Given the description of an element on the screen output the (x, y) to click on. 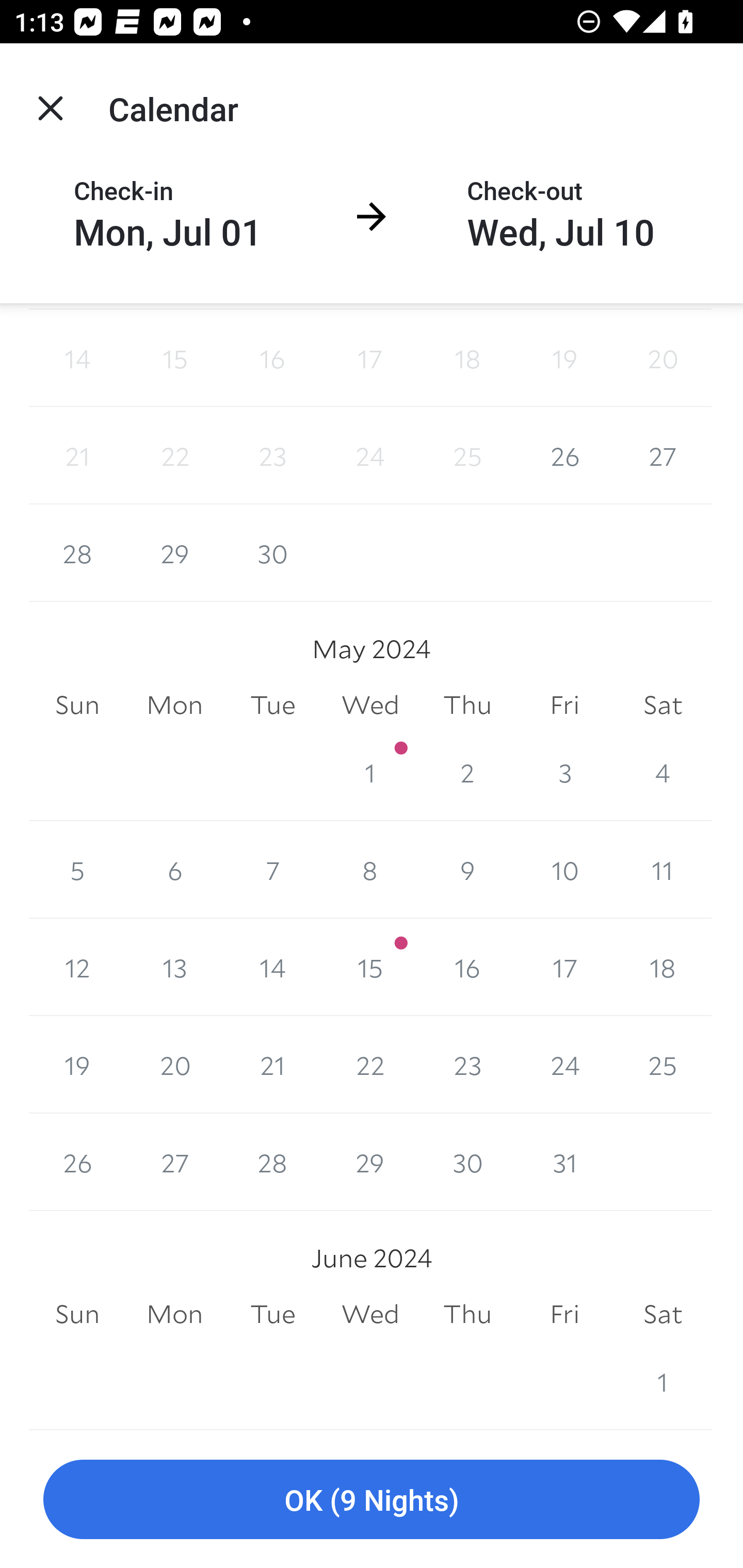
14 14 April 2024 (77, 357)
15 15 April 2024 (174, 357)
16 16 April 2024 (272, 357)
17 17 April 2024 (370, 357)
18 18 April 2024 (467, 357)
19 19 April 2024 (564, 357)
20 20 April 2024 (662, 357)
21 21 April 2024 (77, 455)
22 22 April 2024 (174, 455)
23 23 April 2024 (272, 455)
24 24 April 2024 (370, 455)
25 25 April 2024 (467, 455)
26 26 April 2024 (564, 455)
27 27 April 2024 (662, 455)
28 28 April 2024 (77, 553)
29 29 April 2024 (174, 553)
30 30 April 2024 (272, 553)
Sun (77, 705)
Mon (174, 705)
Tue (272, 705)
Wed (370, 705)
Thu (467, 705)
Fri (564, 705)
Sat (662, 705)
1 1 May 2024 (370, 772)
2 2 May 2024 (467, 772)
3 3 May 2024 (564, 772)
4 4 May 2024 (662, 772)
5 5 May 2024 (77, 869)
6 6 May 2024 (174, 869)
7 7 May 2024 (272, 869)
8 8 May 2024 (370, 869)
9 9 May 2024 (467, 869)
10 10 May 2024 (564, 869)
11 11 May 2024 (662, 869)
12 12 May 2024 (77, 967)
13 13 May 2024 (174, 967)
14 14 May 2024 (272, 967)
15 15 May 2024 (370, 967)
16 16 May 2024 (467, 967)
17 17 May 2024 (564, 967)
18 18 May 2024 (662, 967)
19 19 May 2024 (77, 1064)
20 20 May 2024 (174, 1064)
21 21 May 2024 (272, 1064)
22 22 May 2024 (370, 1064)
23 23 May 2024 (467, 1064)
24 24 May 2024 (564, 1064)
25 25 May 2024 (662, 1064)
26 26 May 2024 (77, 1161)
27 27 May 2024 (174, 1161)
28 28 May 2024 (272, 1161)
29 29 May 2024 (370, 1161)
30 30 May 2024 (467, 1161)
31 31 May 2024 (564, 1161)
Sun (77, 1313)
Mon (174, 1313)
Tue (272, 1313)
Wed (370, 1313)
Thu (467, 1313)
Fri (564, 1313)
Sat (662, 1313)
1 1 June 2024 (662, 1381)
OK (9 Nights) (371, 1499)
